Given the description of an element on the screen output the (x, y) to click on. 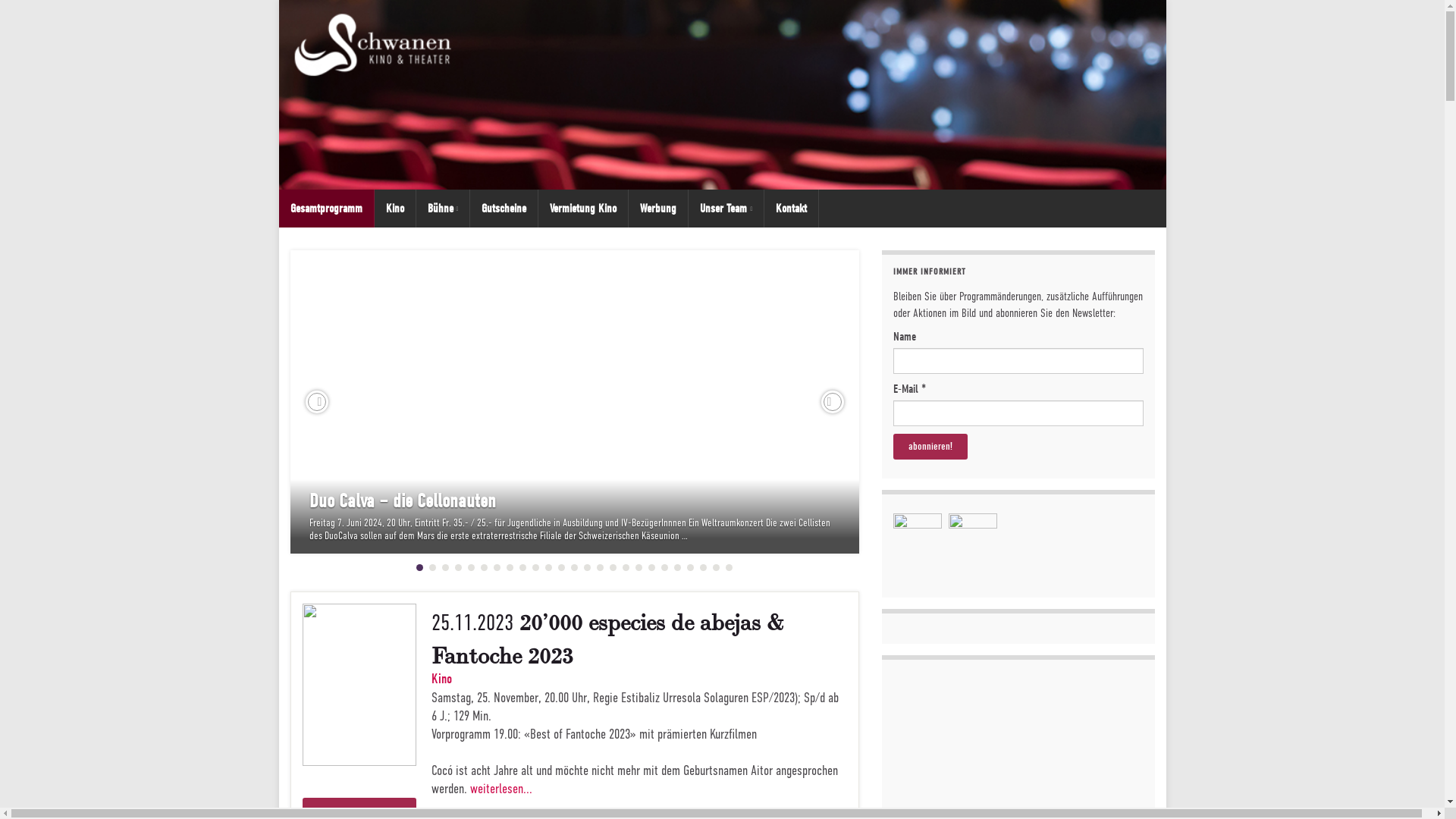
weiterlesen... Element type: text (501, 788)
Vermietung Kino Element type: text (582, 208)
Kino Element type: text (440, 679)
Name Element type: hover (1018, 360)
abonnieren! Element type: text (930, 446)
Gutscheine Element type: text (503, 208)
Next Element type: text (831, 401)
Previous Element type: text (315, 401)
Ganzen Beitrag ansehen Element type: hover (573, 401)
Unser Team Element type: text (725, 208)
Schwanen Kino & Theater Element type: hover (722, 94)
Werbung Element type: text (657, 208)
E-Mail Element type: hover (1018, 413)
Kontakt Element type: text (791, 208)
Gesamtprogramm Element type: text (326, 208)
Kino Element type: text (394, 208)
